Given the description of an element on the screen output the (x, y) to click on. 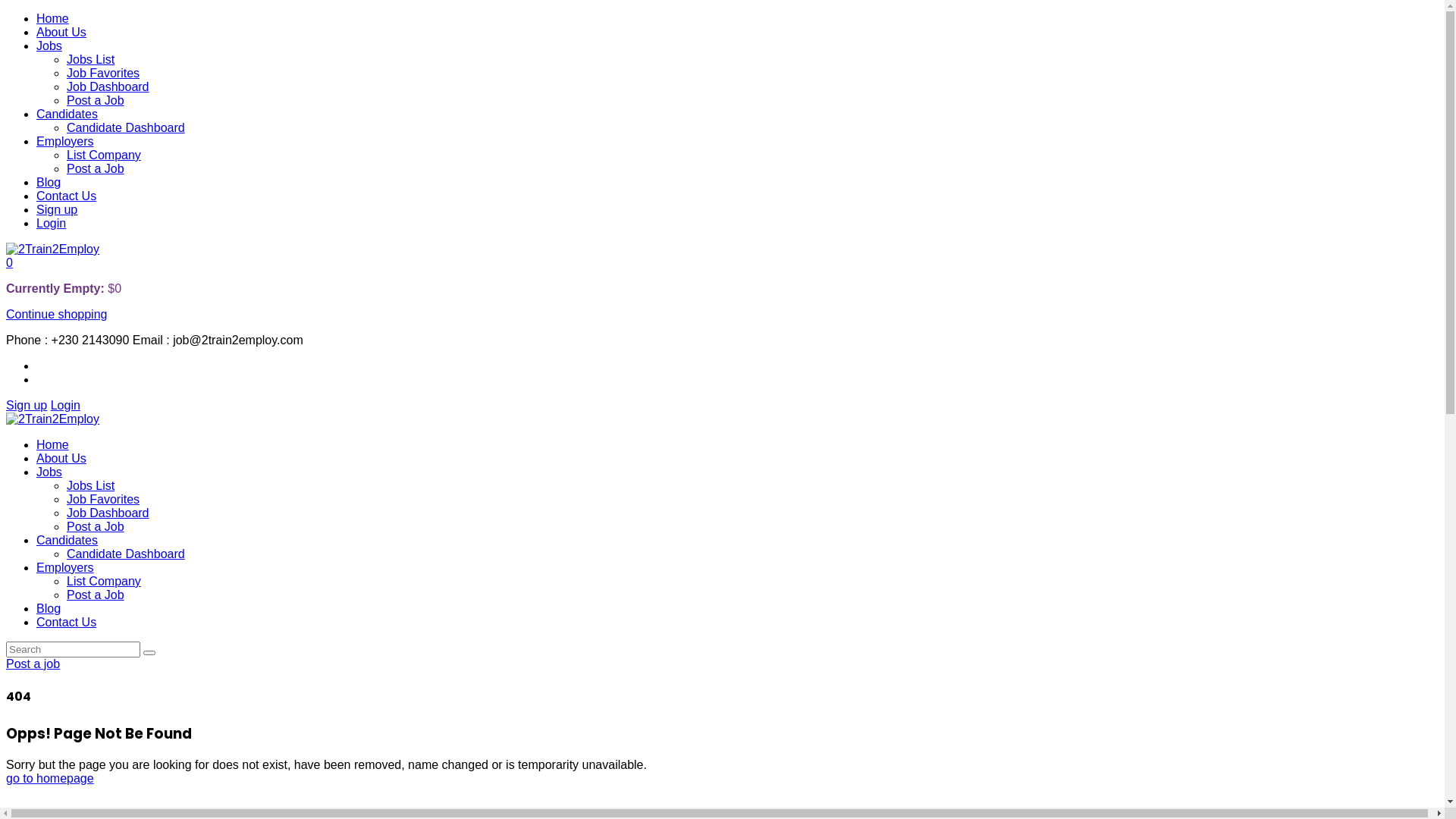
List Company Element type: text (103, 154)
Contact Us Element type: text (66, 195)
Post a Job Element type: text (95, 100)
Post a Job Element type: text (95, 594)
Candidates Element type: text (66, 539)
Employers Element type: text (65, 140)
Blog Element type: text (48, 181)
Home Element type: text (52, 444)
Login Element type: text (50, 222)
Employers Element type: text (65, 567)
Post a job Element type: text (32, 663)
Jobs Element type: text (49, 471)
Job Favorites Element type: text (102, 72)
Blog Element type: text (48, 608)
Home Element type: text (52, 18)
Job Dashboard Element type: text (107, 86)
Jobs Element type: text (49, 45)
Candidates Element type: text (66, 113)
Sign up Element type: text (56, 209)
List Company Element type: text (103, 580)
Job Favorites Element type: text (102, 498)
Candidate Dashboard Element type: text (125, 553)
Jobs List Element type: text (90, 59)
About Us Element type: text (61, 457)
About Us Element type: text (61, 31)
Job Dashboard Element type: text (107, 512)
Candidate Dashboard Element type: text (125, 127)
Contact Us Element type: text (66, 621)
Post a Job Element type: text (95, 526)
0 Element type: text (9, 262)
Sign up Element type: text (26, 404)
Continue shopping Element type: text (56, 313)
Jobs List Element type: text (90, 485)
go to homepage Element type: text (50, 777)
Login Element type: text (65, 404)
Post a Job Element type: text (95, 168)
